Given the description of an element on the screen output the (x, y) to click on. 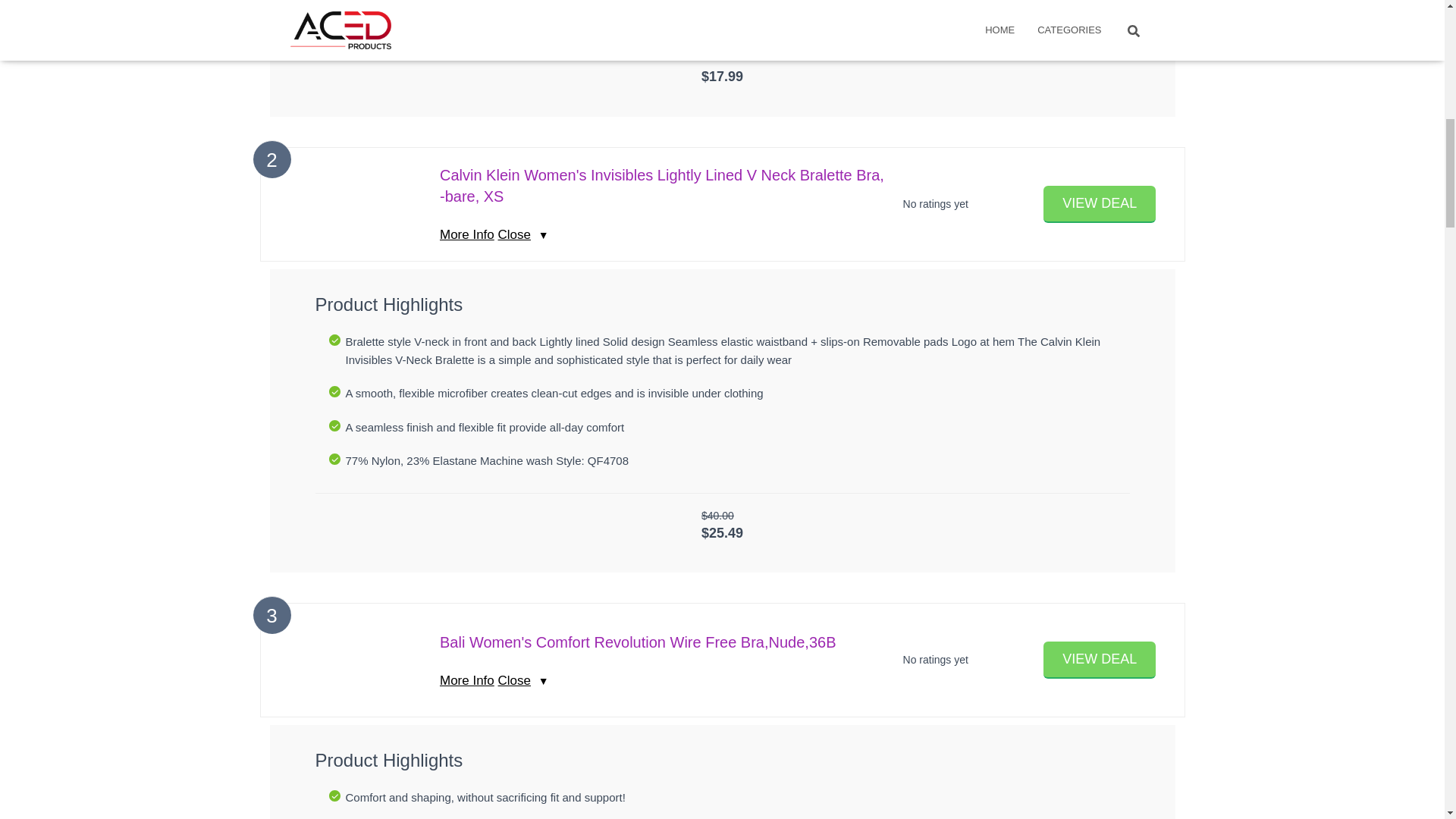
Bali Women's Comfort Revolution Wire Free Bra,Nude,36B (637, 641)
Amazon Prime (721, 550)
VIEW DEAL (1099, 203)
VIEW DEAL (1099, 659)
VIEW DEAL (1099, 203)
VIEW DEAL (1099, 659)
Bali Women's Comfort Revolution Wire Free Bra,Nude,36B (637, 641)
Amazon Prime (721, 94)
